Given the description of an element on the screen output the (x, y) to click on. 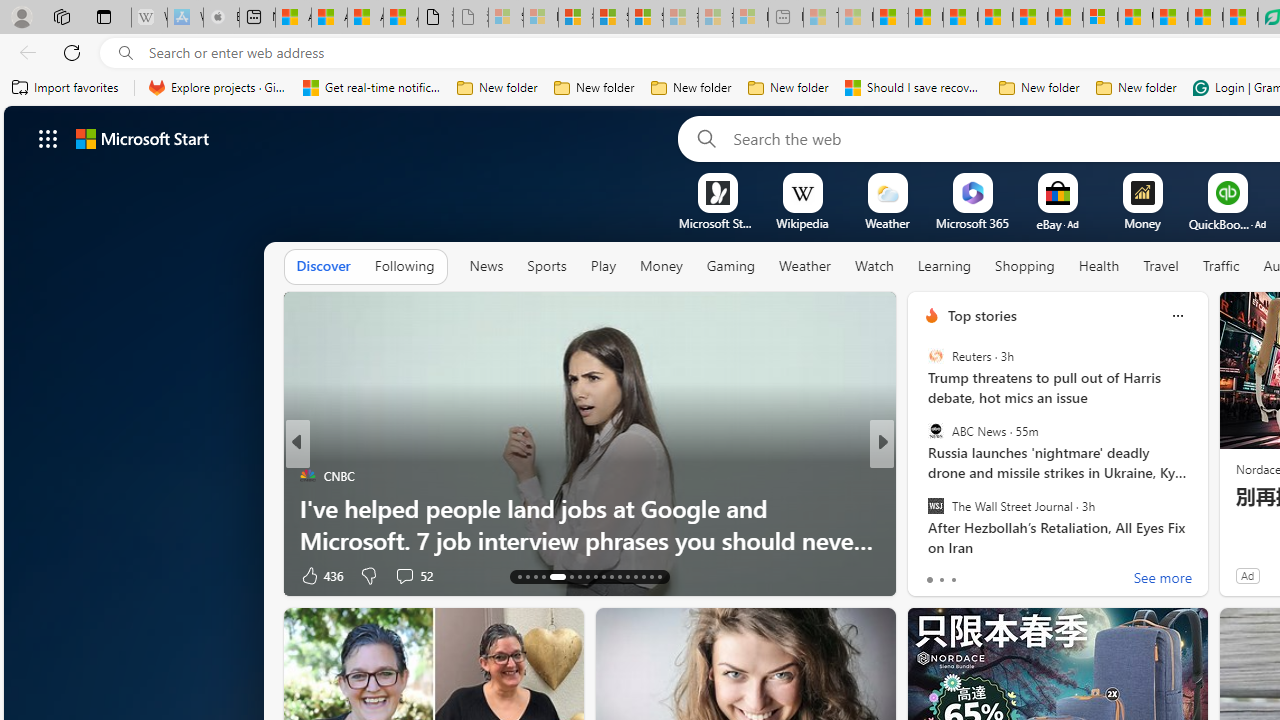
CNBC (923, 475)
Food and Drink - MSN (925, 17)
StarsInsider (923, 507)
AutomationID: tab-41 (659, 576)
AutomationID: waffle (47, 138)
ABC News (935, 431)
New folder (1136, 88)
Reuters (935, 356)
26 Like (934, 574)
